Given the description of an element on the screen output the (x, y) to click on. 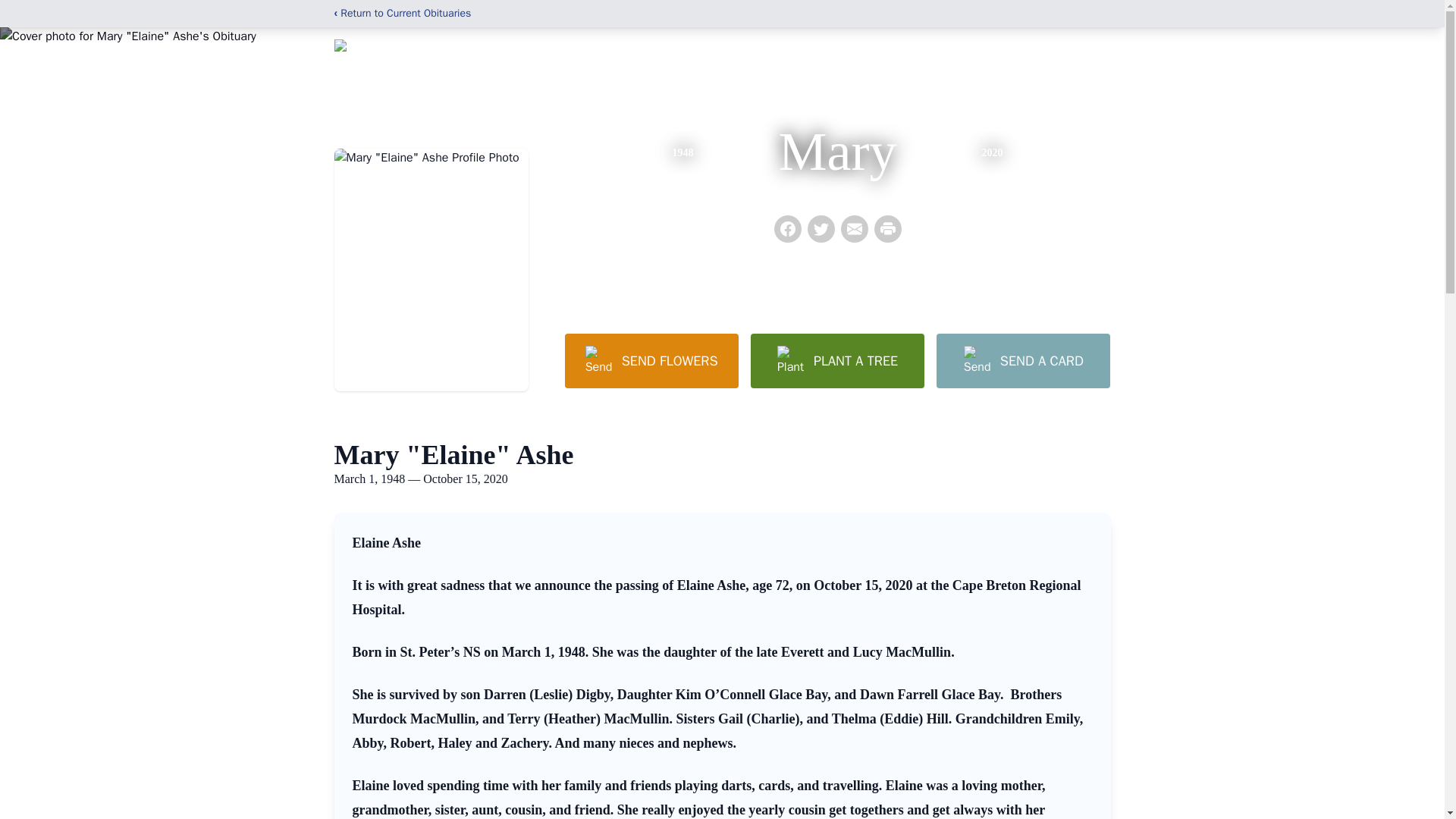
SEND A CARD (1022, 360)
SEND FLOWERS (651, 360)
PLANT A TREE (837, 360)
